Given the description of an element on the screen output the (x, y) to click on. 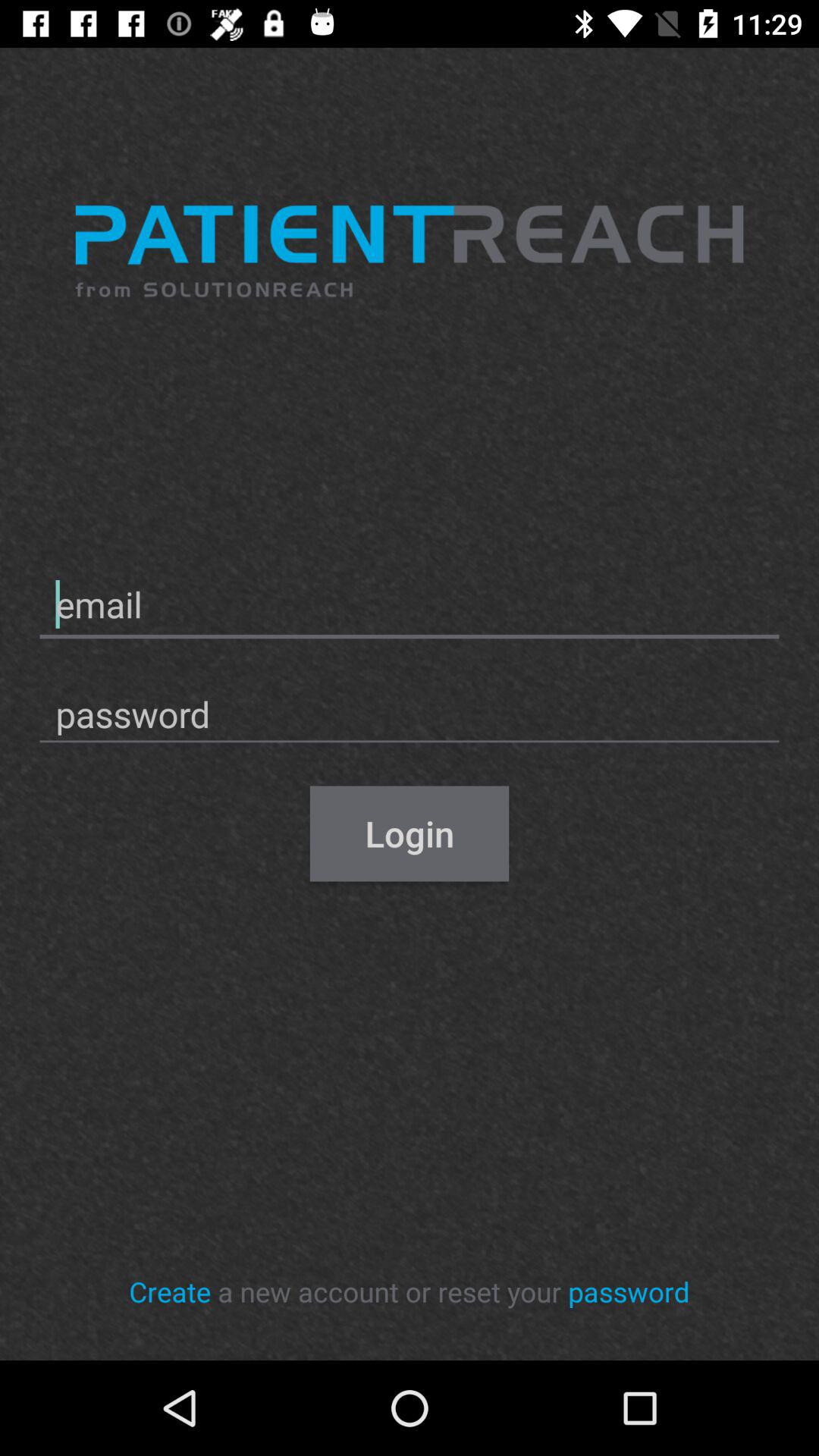
select item at the bottom left corner (170, 1291)
